Given the description of an element on the screen output the (x, y) to click on. 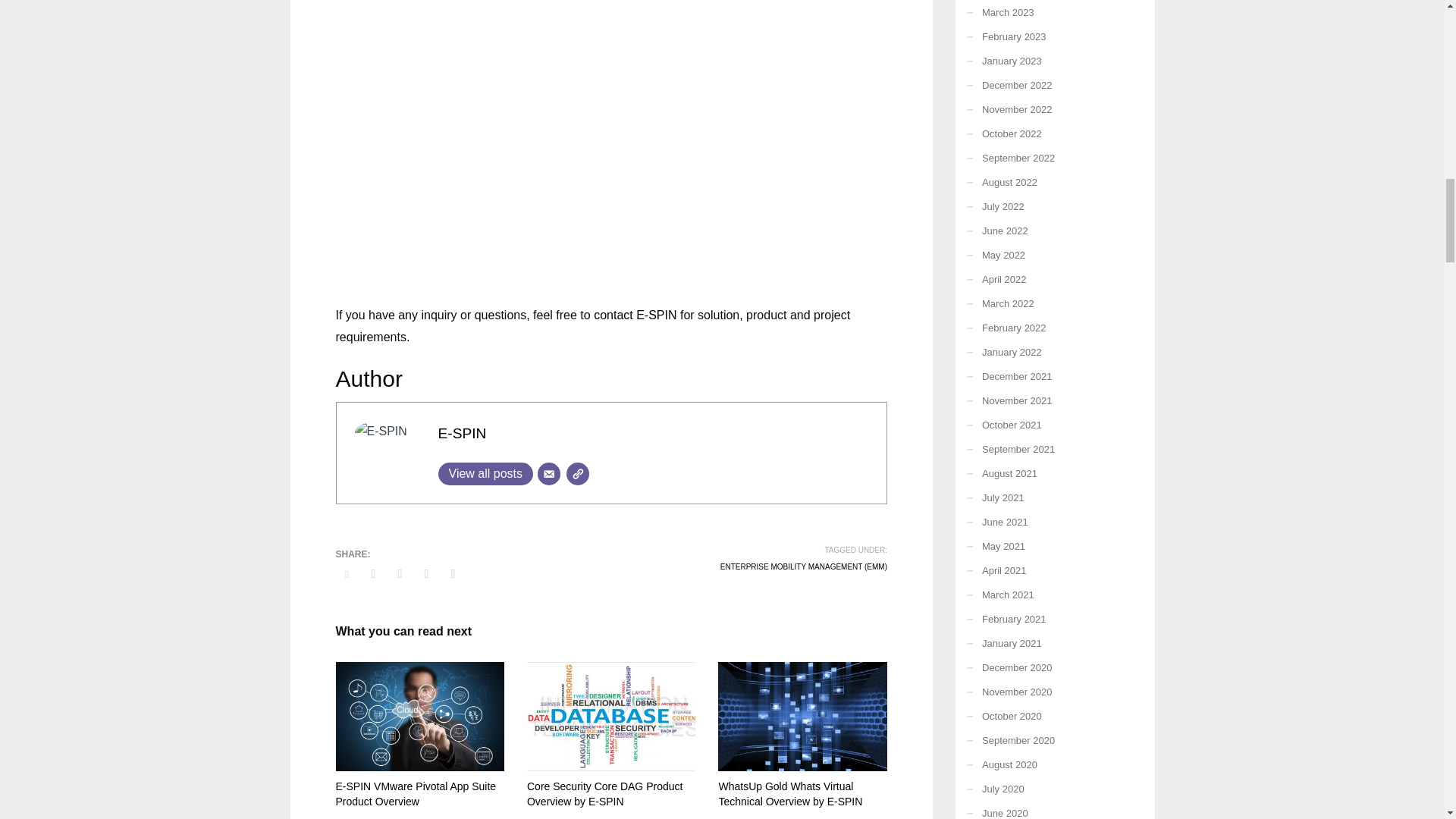
SHARE ON FACEBOOK (373, 573)
SHARE ON TWITTER (346, 574)
E-SPIN (462, 433)
View all posts (486, 473)
